Given the description of an element on the screen output the (x, y) to click on. 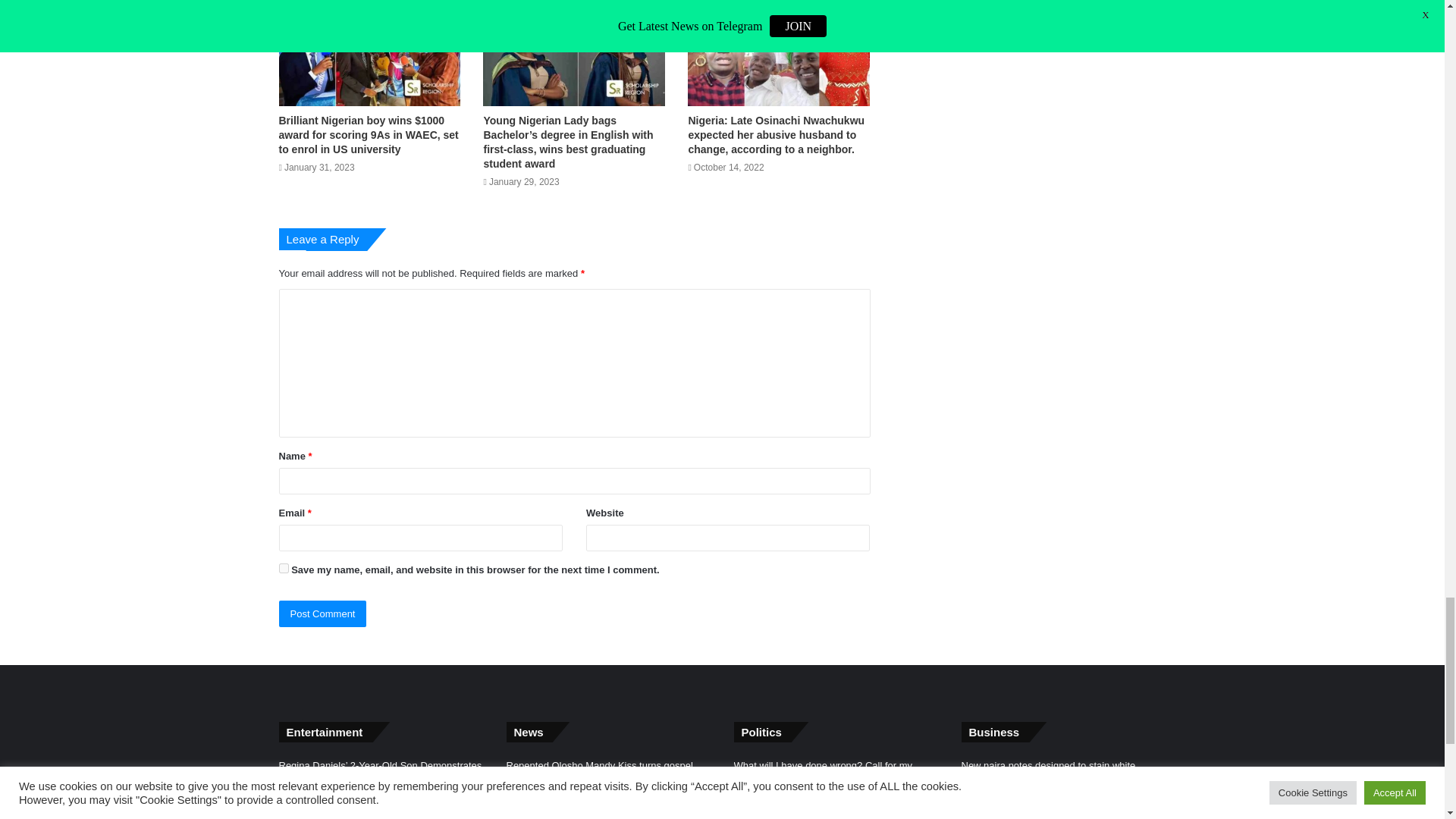
yes (283, 568)
Post Comment (322, 613)
